Given the description of an element on the screen output the (x, y) to click on. 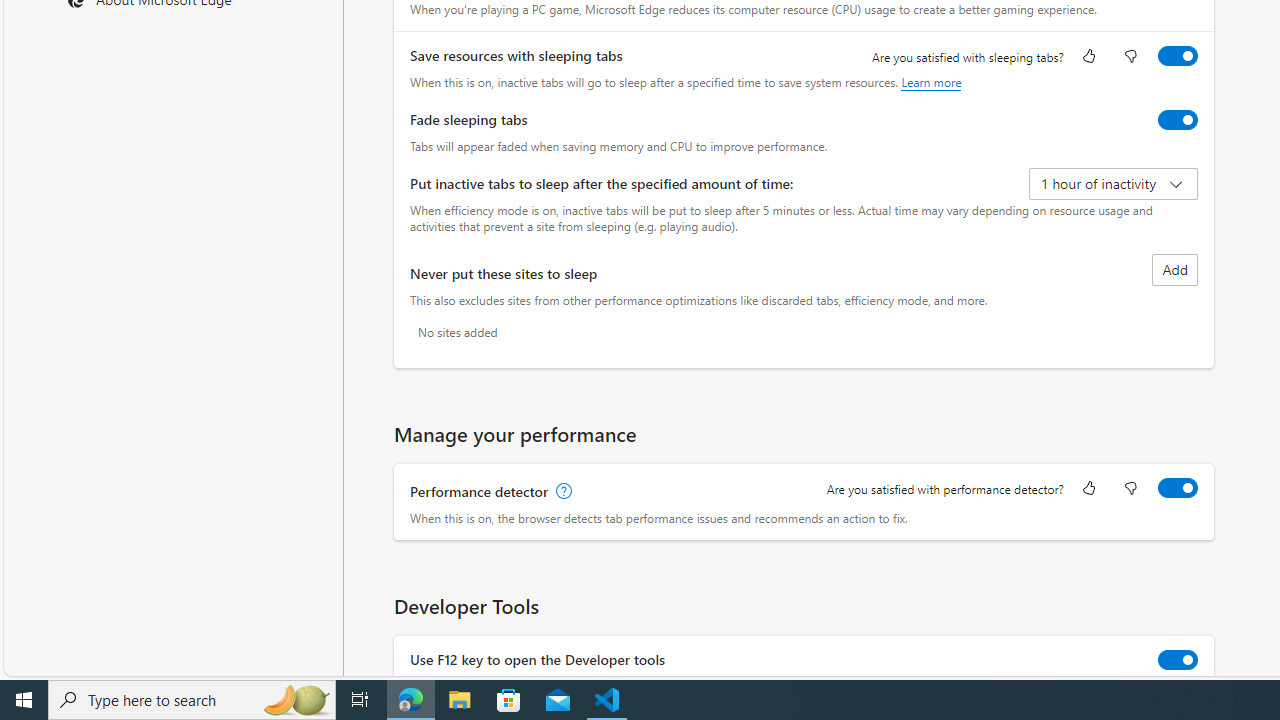
Learn more (931, 82)
Save resources with sleeping tabs (1178, 56)
Use F12 key to open the Developer tools (1178, 660)
File Explorer (460, 699)
Search highlights icon opens search home window (295, 699)
Like (1089, 489)
Microsoft Store (509, 699)
Fade sleeping tabs (1178, 120)
Start (24, 699)
Task View (359, 699)
Type here to search (191, 699)
Performance detector, learn more (562, 492)
Add site to never put these sites to sleep list (1175, 269)
Visual Studio Code - 1 running window (607, 699)
